Given the description of an element on the screen output the (x, y) to click on. 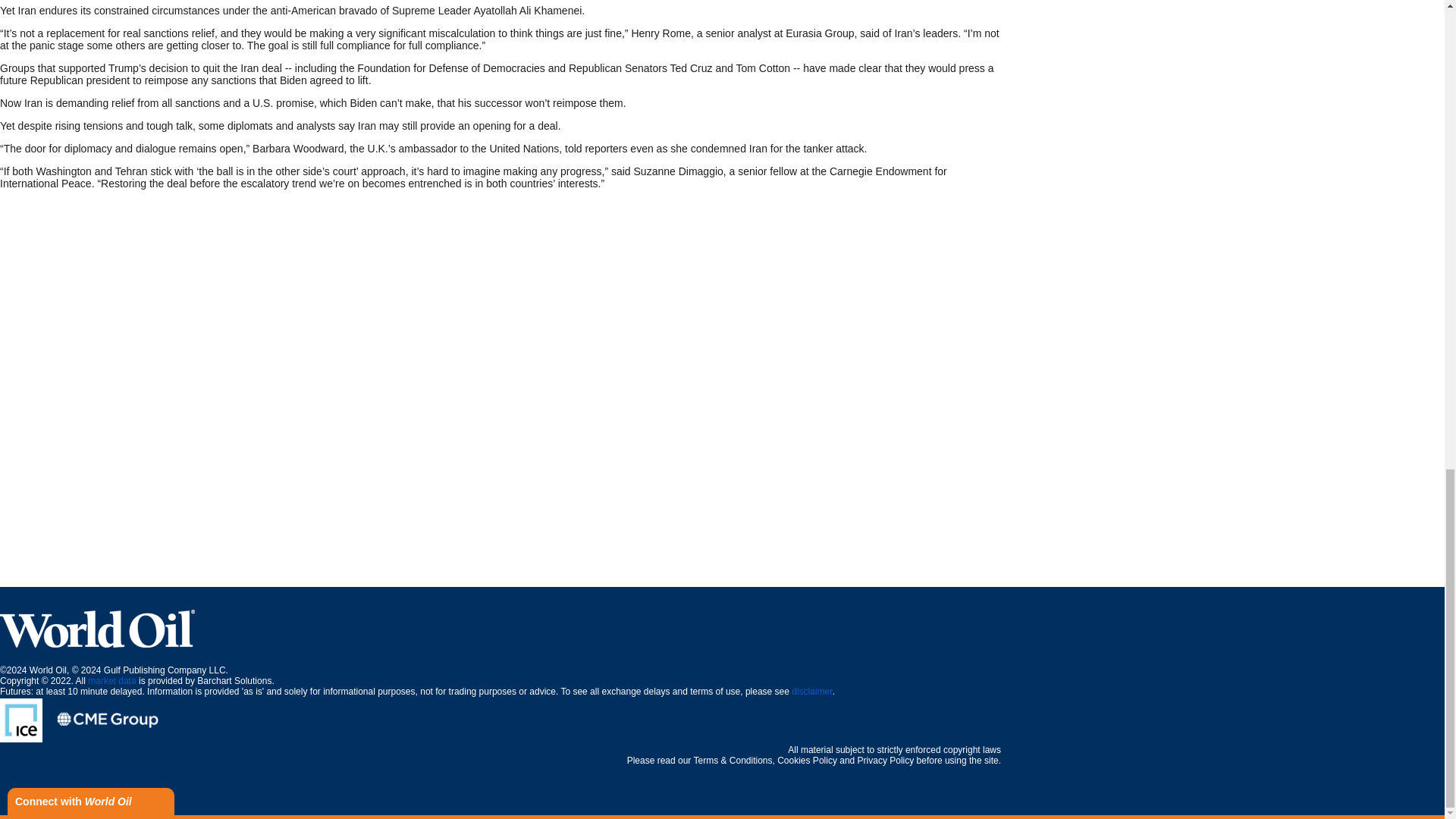
3rd party ad content (721, 552)
